Given the description of an element on the screen output the (x, y) to click on. 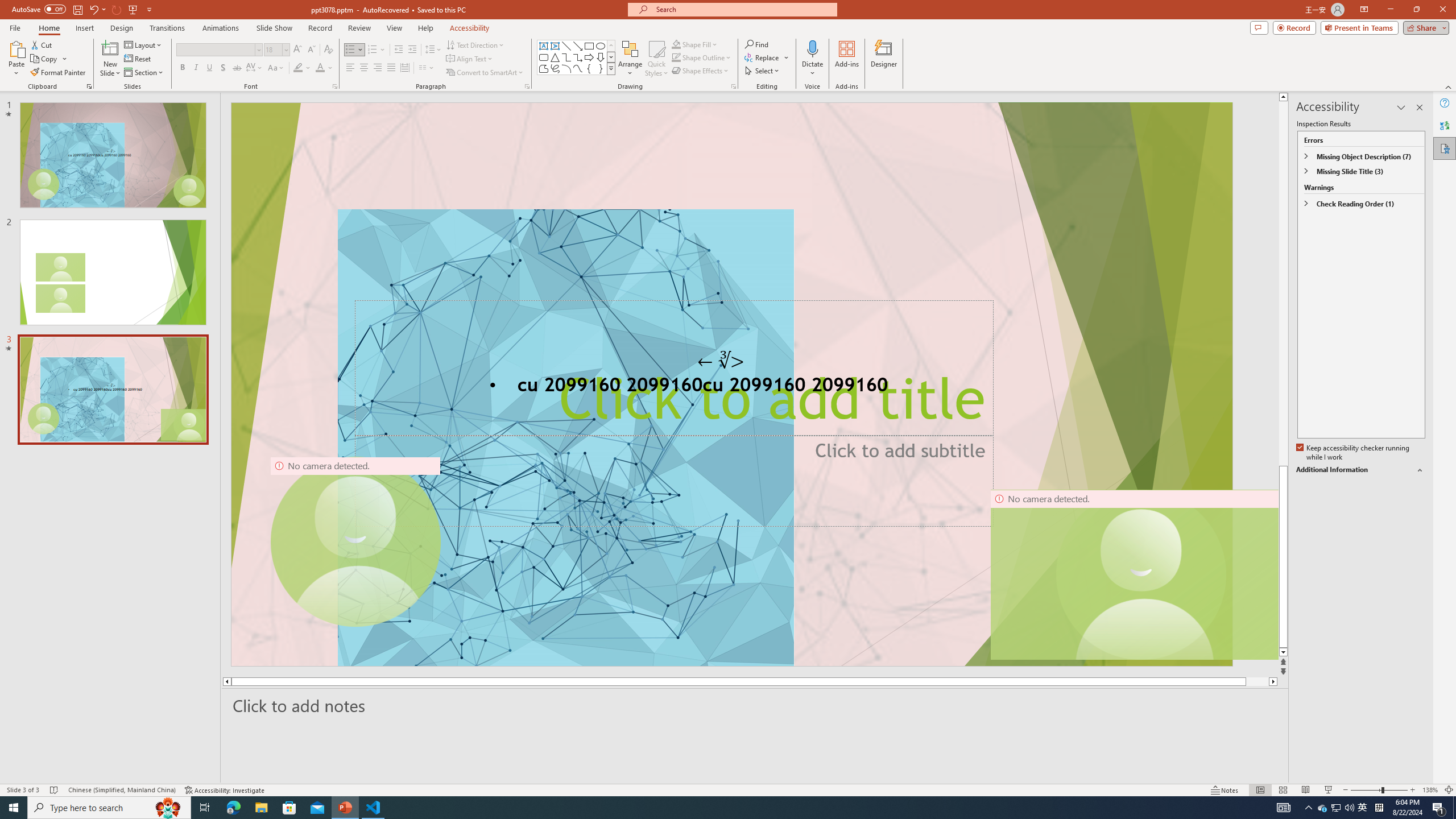
Camera 9, No camera detected. (355, 542)
